Given the description of an element on the screen output the (x, y) to click on. 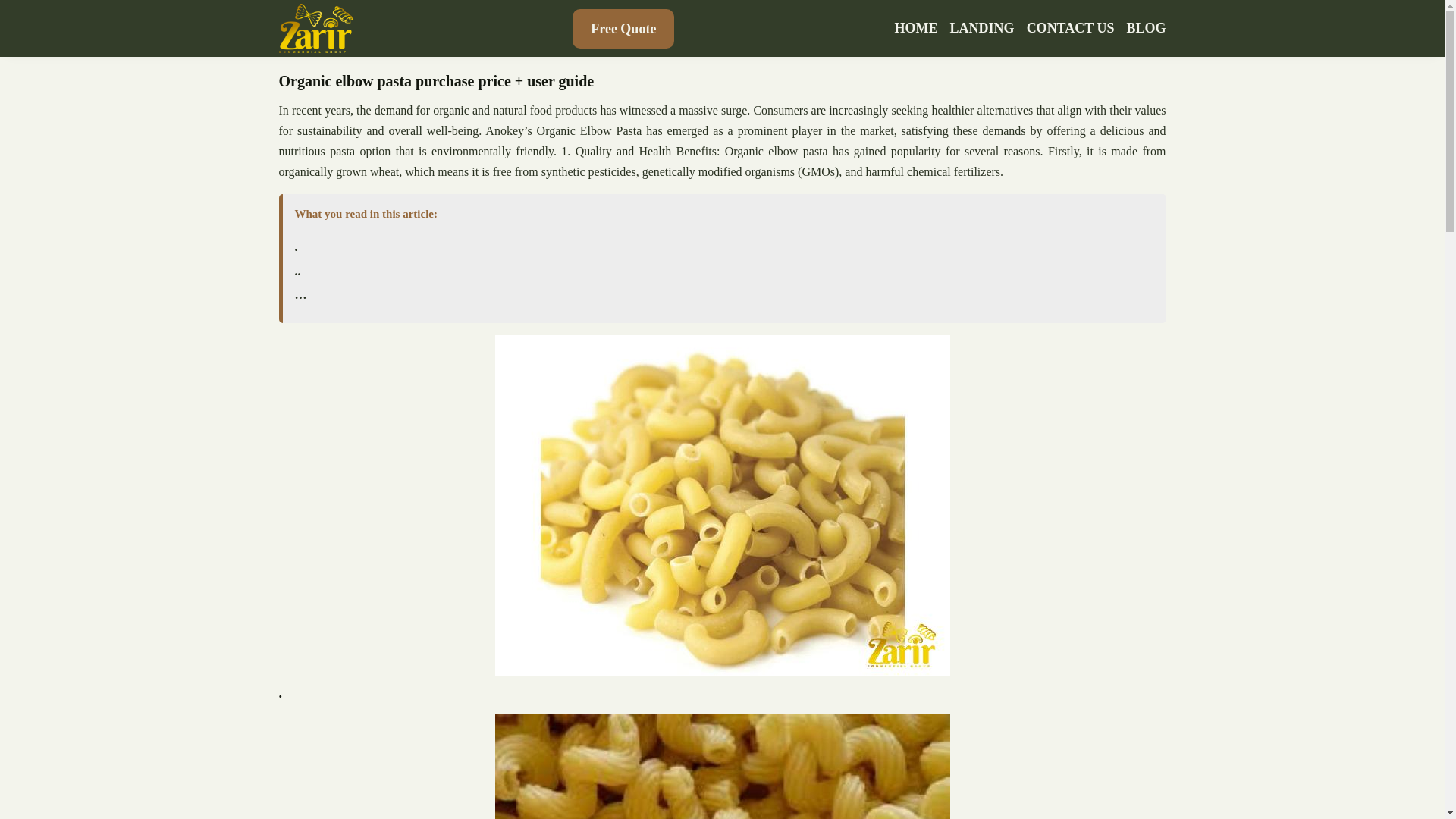
LANDING (982, 28)
Free Quote (623, 28)
CONTACT US (1070, 28)
BLOG (1145, 28)
HOME (916, 28)
